Given the description of an element on the screen output the (x, y) to click on. 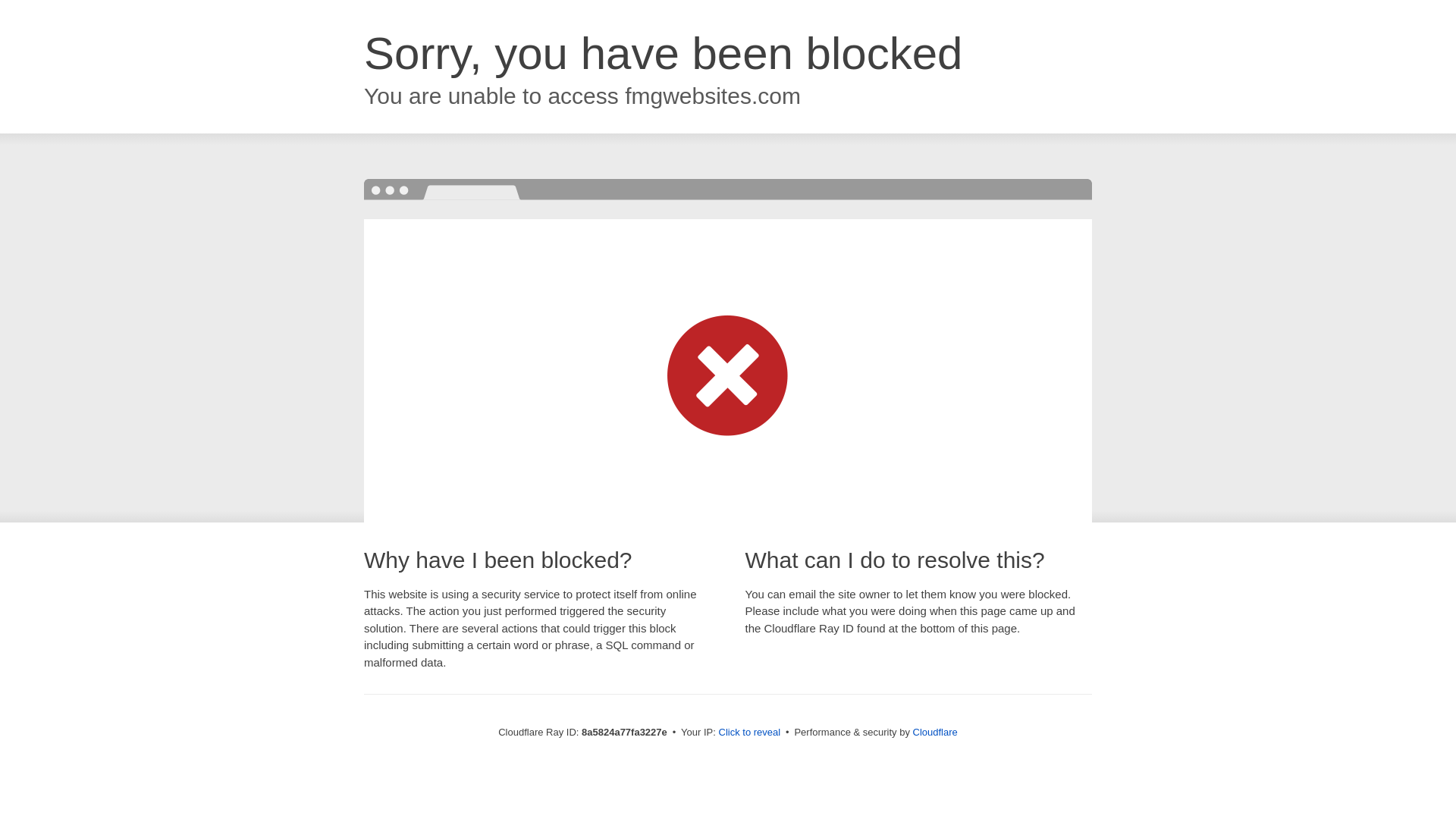
Click to reveal (749, 732)
Cloudflare (935, 731)
